Given the description of an element on the screen output the (x, y) to click on. 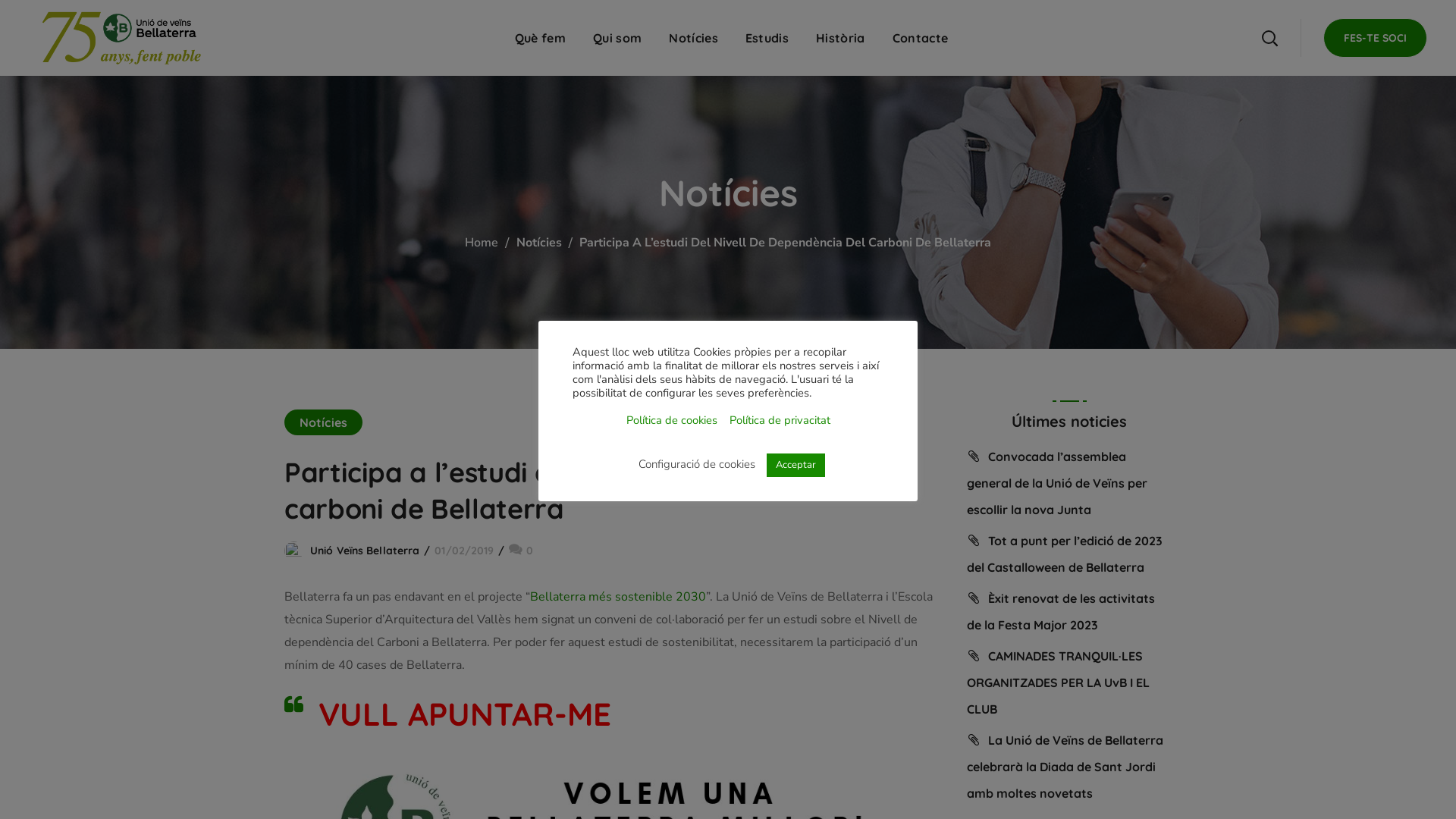
Acceptar Element type: text (795, 464)
0 Element type: text (520, 550)
Qui som Element type: text (617, 37)
Cerca Element type: text (1229, 113)
Estudis Element type: text (766, 37)
Home Element type: text (481, 242)
FES-TE SOCI Element type: text (1375, 37)
Contacte Element type: text (920, 37)
Cerca Element type: text (1229, 37)
VULL APUNTAR-ME Element type: text (464, 713)
